Given the description of an element on the screen output the (x, y) to click on. 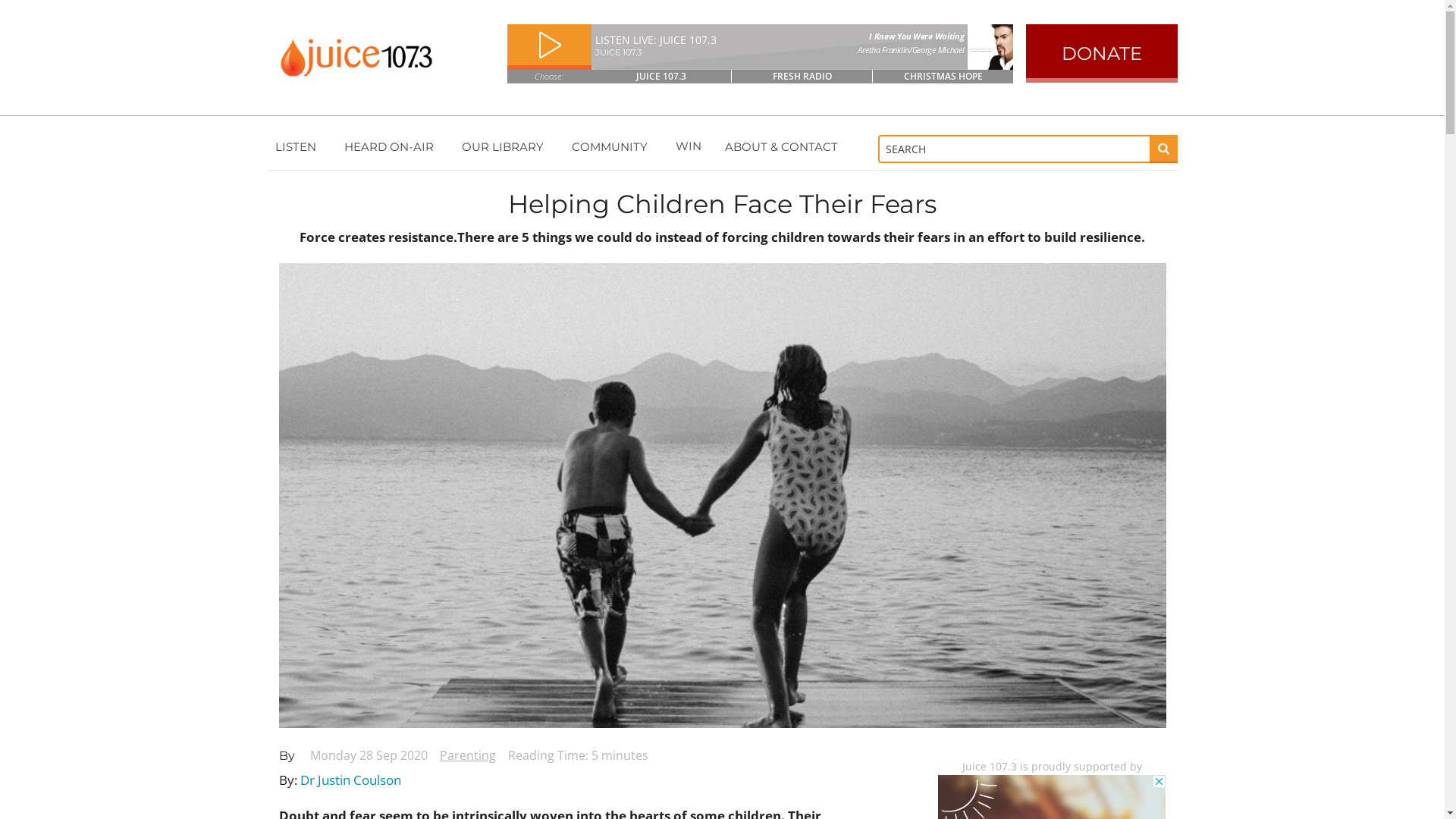
HEARD ON-AIR Element type: text (390, 146)
FRESH RADIO Element type: text (801, 75)
OUR LIBRARY Element type: text (504, 146)
CHRISTMAS HOPE Element type: text (942, 75)
Dr Justin Coulson Element type: text (350, 779)
COMMUNITY Element type: text (611, 146)
DONATE Element type: text (1100, 53)
JUICE 107.3 Element type: text (661, 75)
LISTEN Element type: text (296, 146)
WIN Element type: text (688, 146)
ABOUT & CONTACT Element type: text (783, 146)
Parenting Element type: text (467, 754)
